Given the description of an element on the screen output the (x, y) to click on. 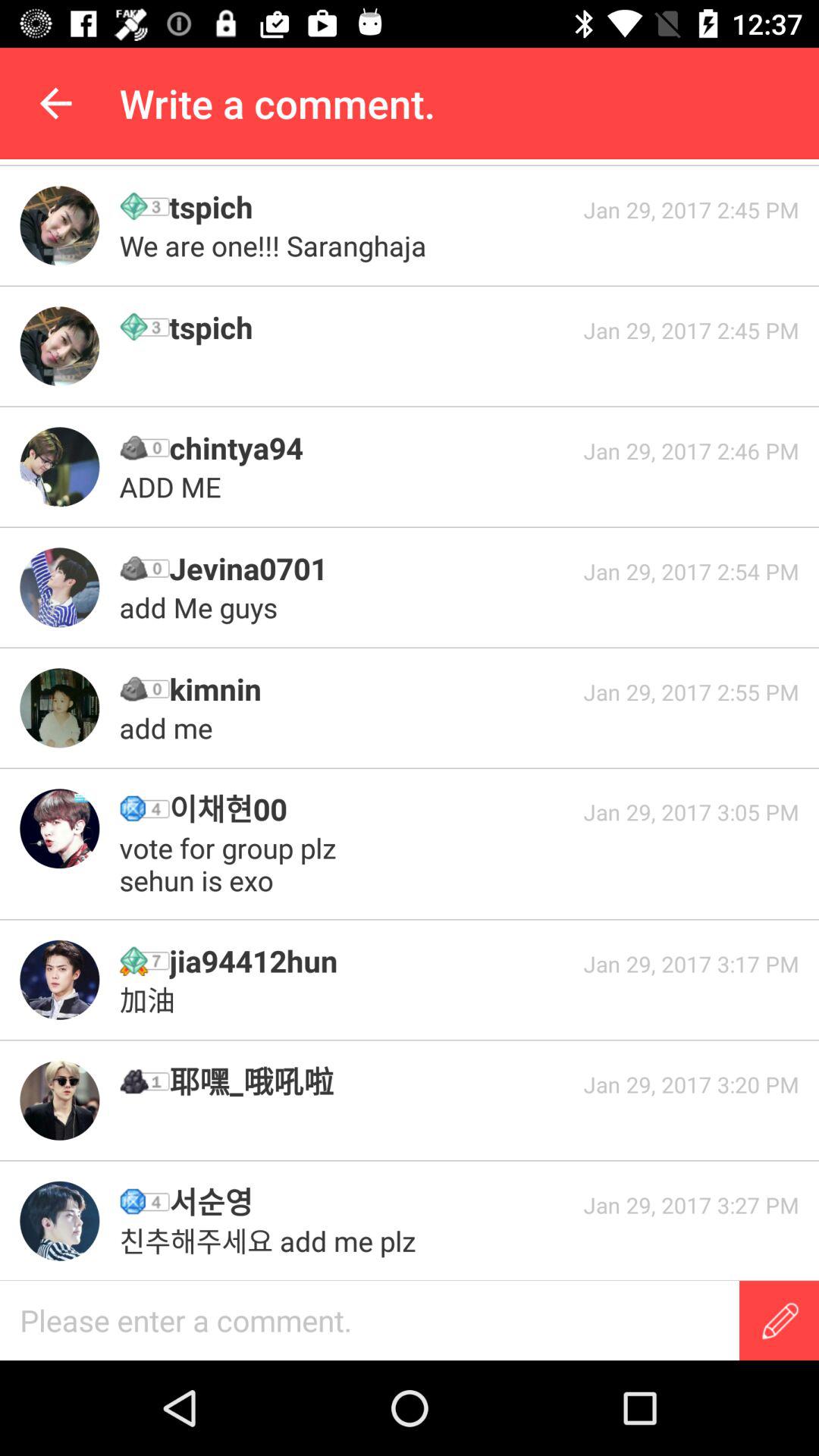
profile image of someone (59, 828)
